Given the description of an element on the screen output the (x, y) to click on. 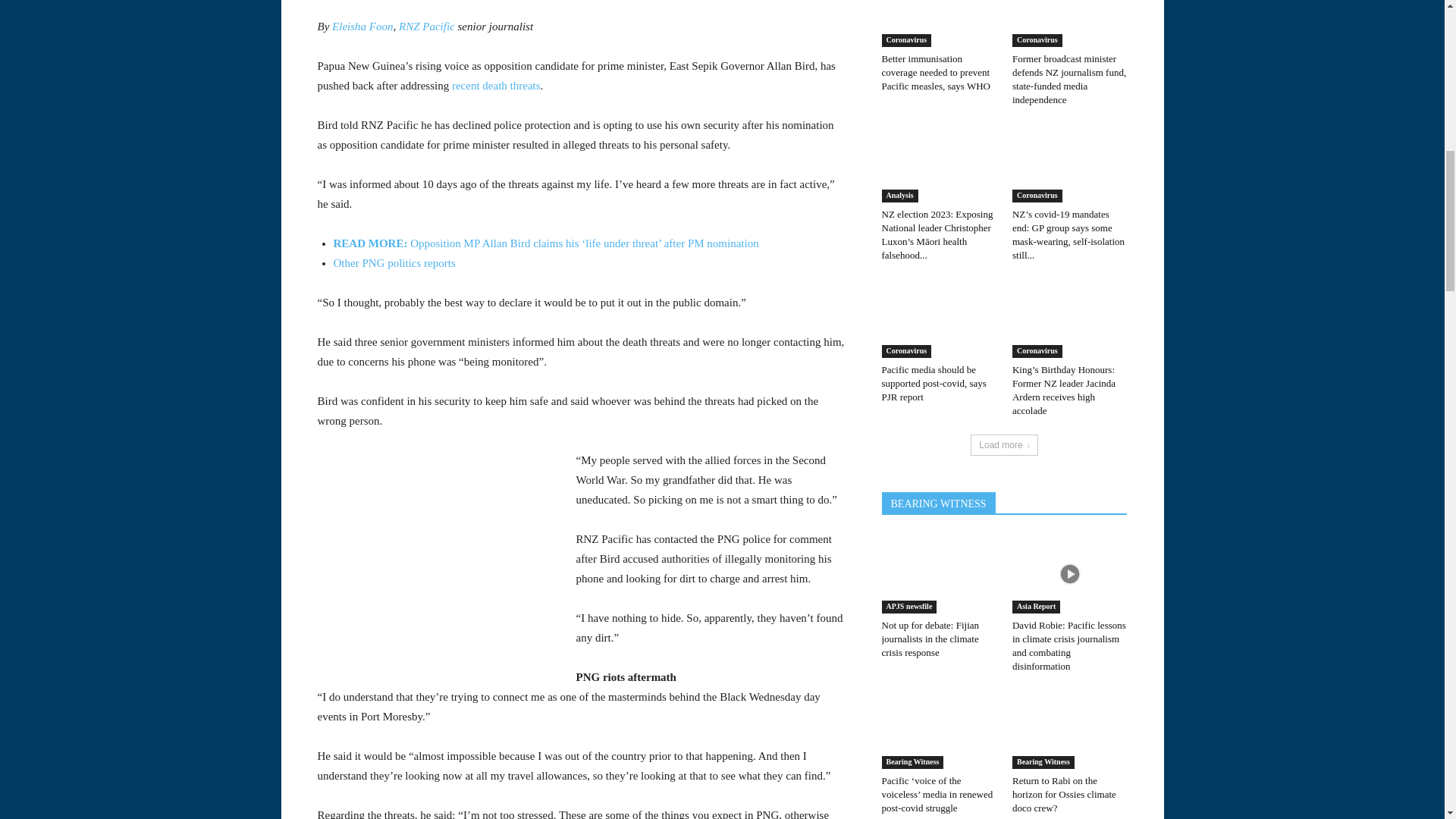
Lao (140, 294)
Tonga (140, 35)
Malaysia (140, 323)
Tokelau (140, 10)
Brunei (140, 179)
Cambodia (140, 208)
Vanuatu (140, 92)
Indonesia (140, 265)
West Papua (140, 121)
Asia Report (140, 150)
China (140, 236)
Tuvalu (140, 63)
Myanmar (140, 352)
